Given the description of an element on the screen output the (x, y) to click on. 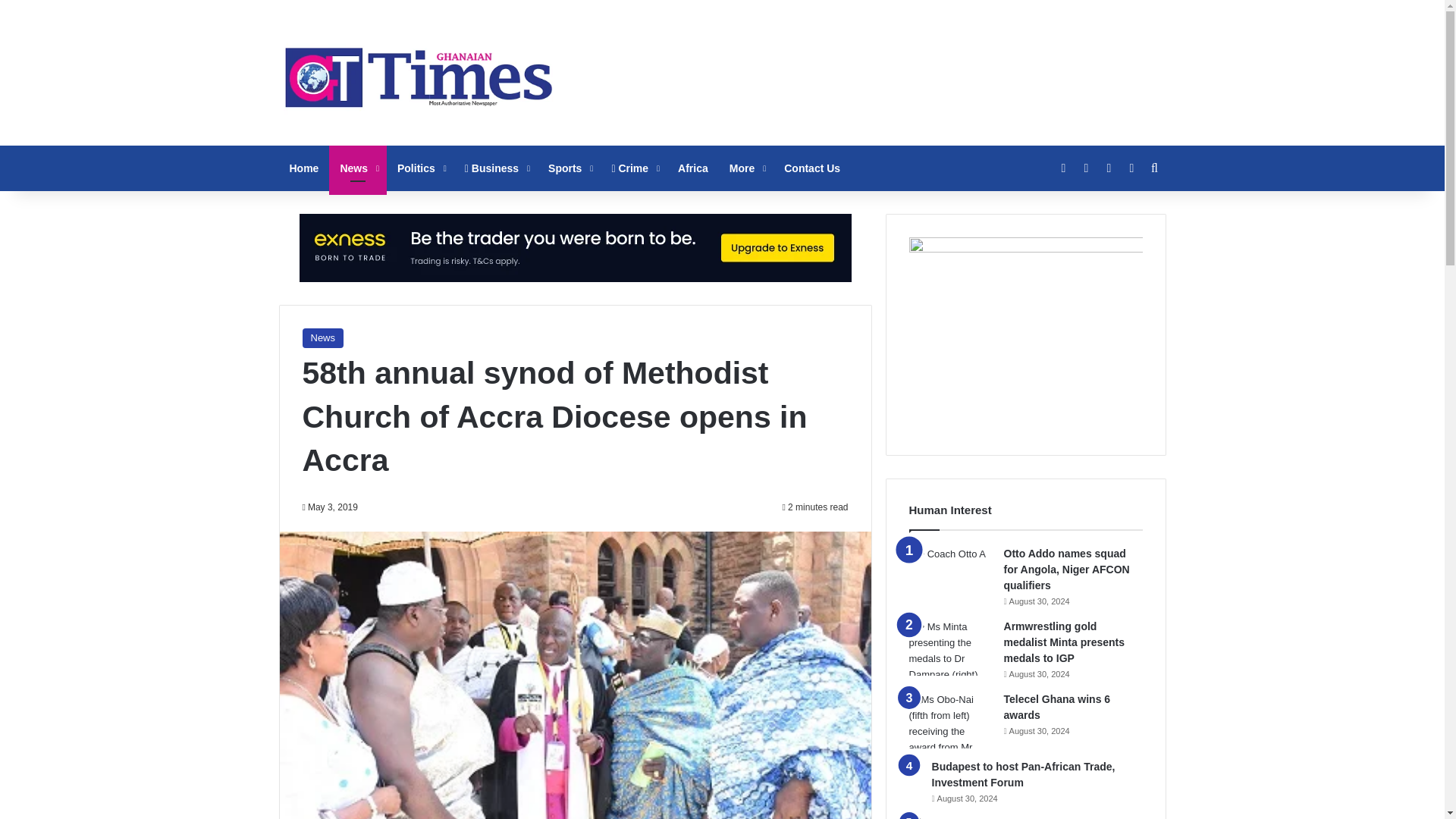
Home (304, 167)
News (322, 338)
Sports (568, 167)
Politics (420, 167)
Business (495, 167)
Ghanaian Times (419, 72)
Africa (692, 167)
News (358, 167)
More (746, 167)
Crime (632, 167)
